Given the description of an element on the screen output the (x, y) to click on. 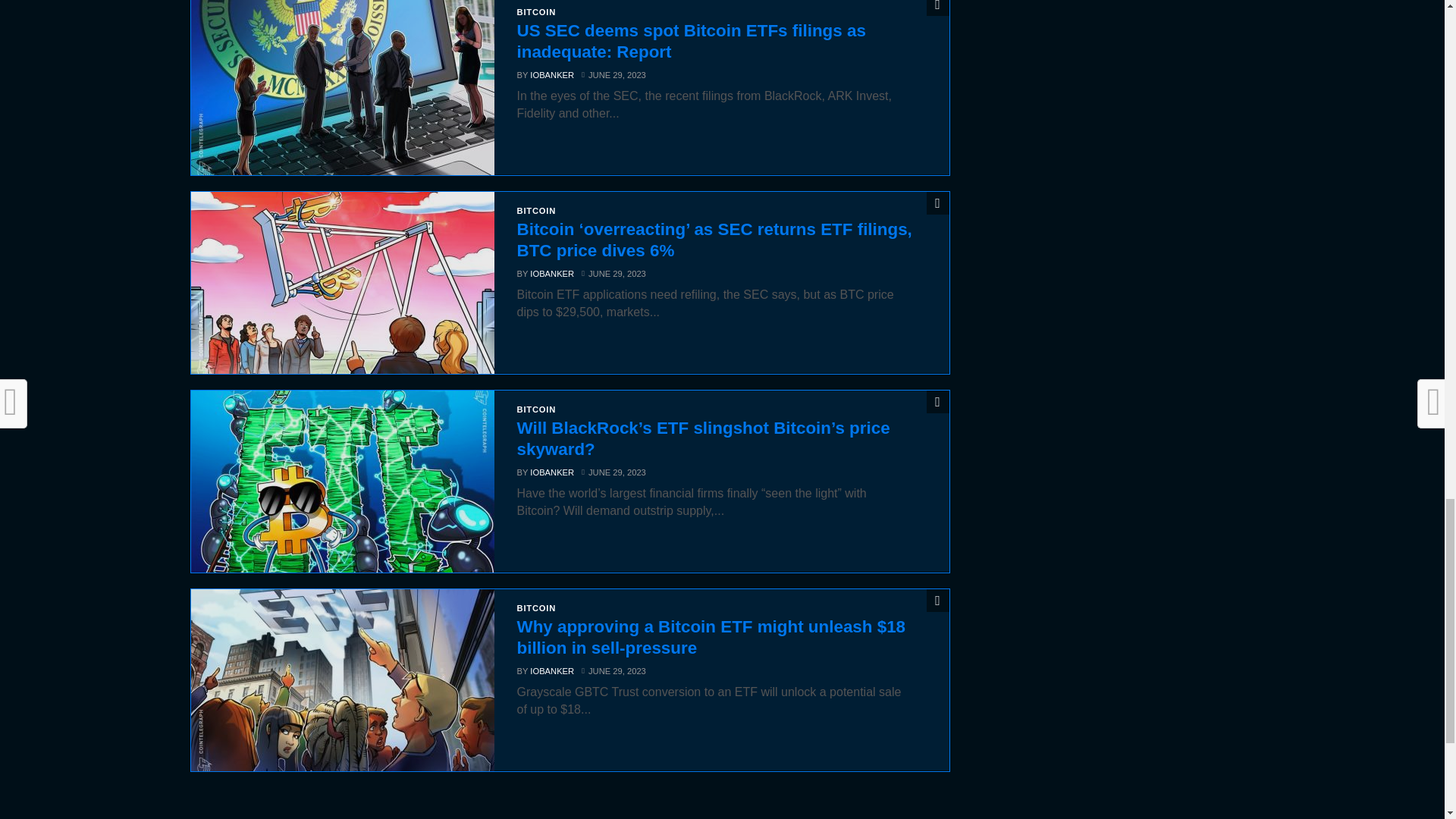
Posts by ioBanker (551, 74)
Posts by ioBanker (551, 273)
